Given the description of an element on the screen output the (x, y) to click on. 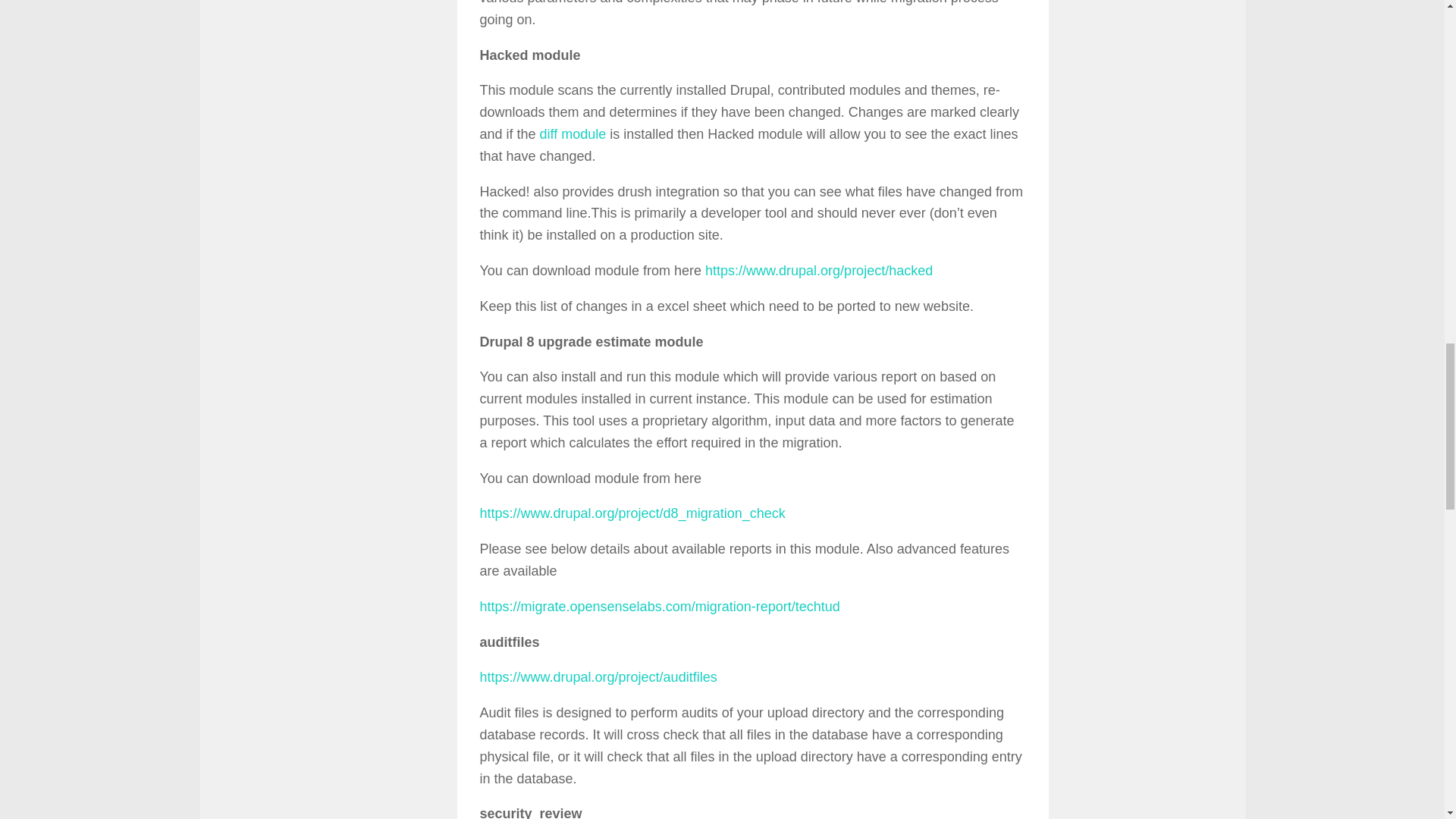
diff module (573, 133)
